Given the description of an element on the screen output the (x, y) to click on. 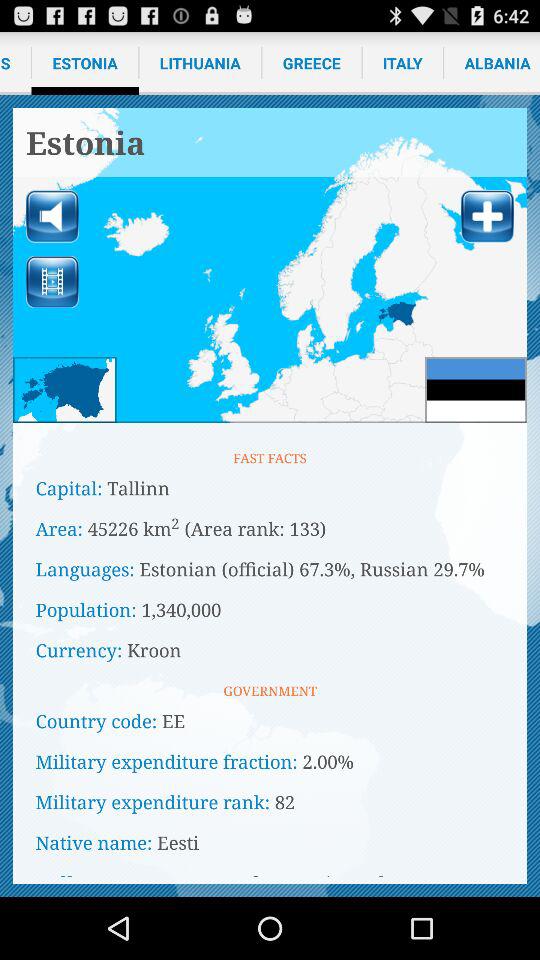
turn up the volume (52, 216)
